Given the description of an element on the screen output the (x, y) to click on. 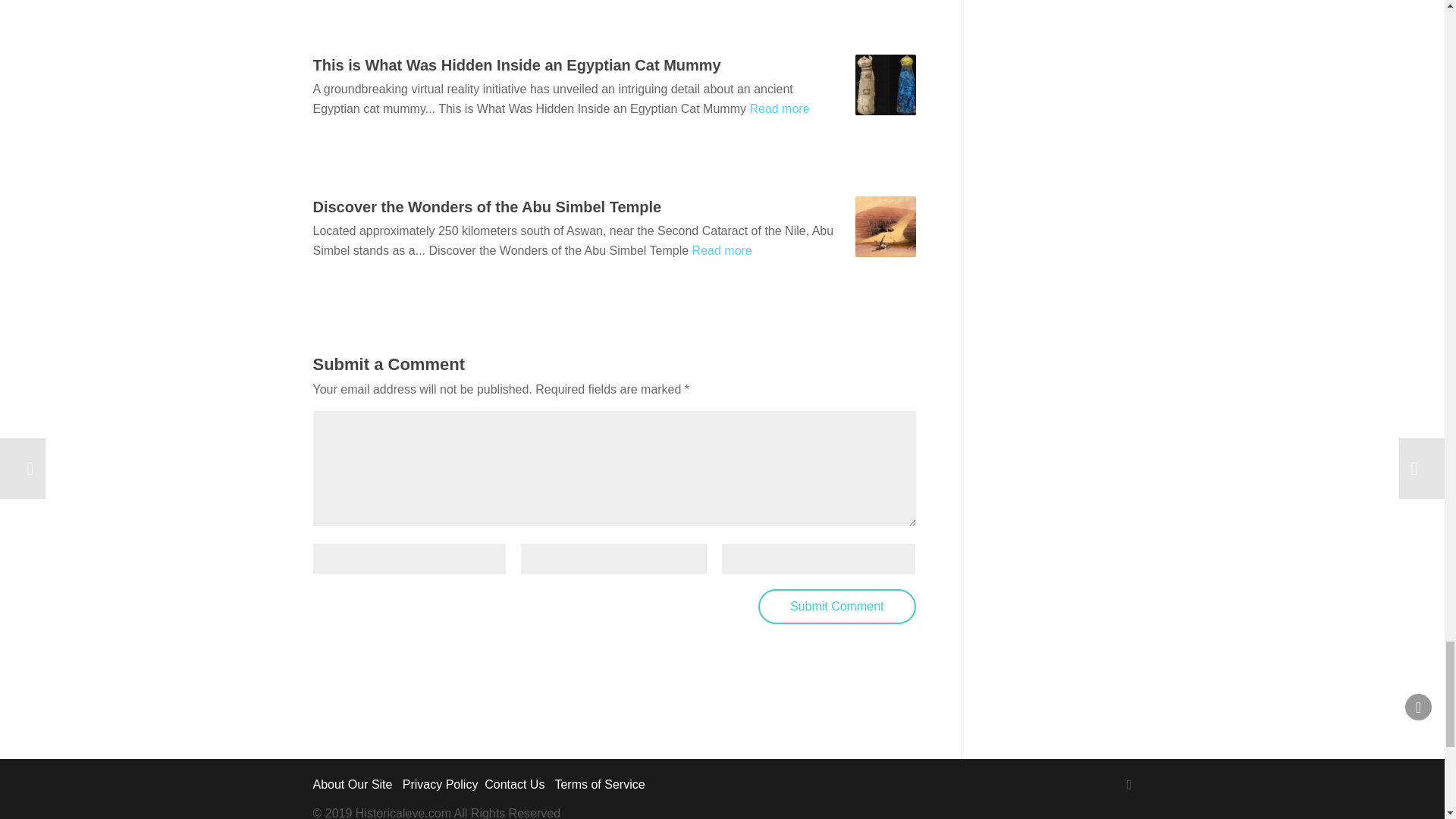
This is What Was Hidden Inside an Egyptian Cat Mummy (885, 84)
Discover the Wonders of the Abu Simbel Temple (487, 207)
Submit Comment (836, 605)
This is What Was Hidden Inside an Egyptian Cat Mummy (516, 64)
Discover the Wonders of the Abu Simbel Temple (885, 226)
Read more (779, 108)
Discover the Wonders of the Abu Simbel Temple (487, 207)
This is What Was Hidden Inside an Egyptian Cat Mummy (516, 64)
